Given the description of an element on the screen output the (x, y) to click on. 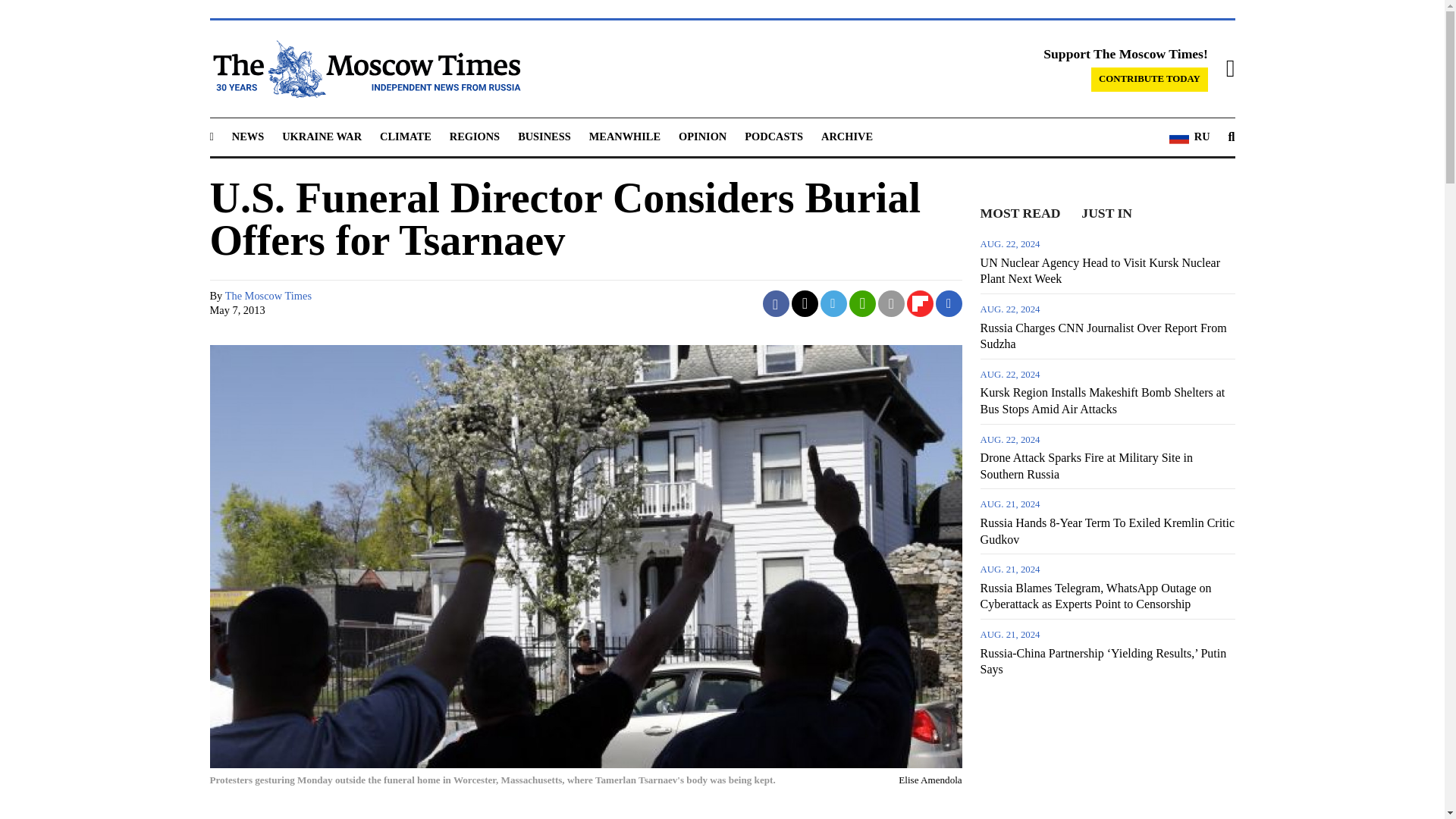
OPINION (702, 136)
ARCHIVE (846, 136)
CLIMATE (405, 136)
BUSINESS (544, 136)
UKRAINE WAR (321, 136)
The Moscow Times - Independent News from Russia (364, 68)
Share on Facebook (775, 303)
Share on Flipboard (920, 303)
Share on Telegram (834, 303)
The Moscow Times (268, 295)
